Given the description of an element on the screen output the (x, y) to click on. 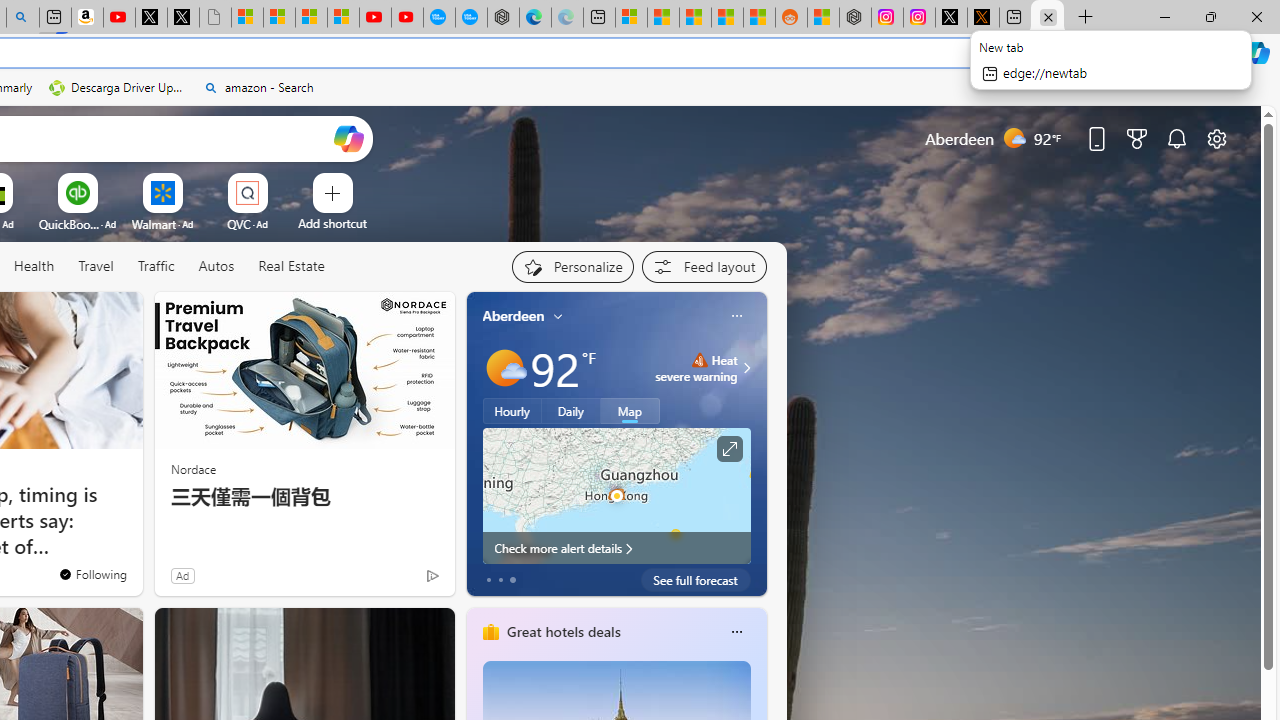
Aberdeen (513, 315)
Log in to X / X (950, 17)
Great hotels deals (562, 631)
Untitled (215, 17)
New split screen (54, 17)
YouTube Kids - An App Created for Kids to Explore Content (407, 17)
Class: weather-arrow-glyph (746, 367)
Microsoft account | Microsoft Account Privacy Settings (630, 17)
Hourly (511, 411)
